Given the description of an element on the screen output the (x, y) to click on. 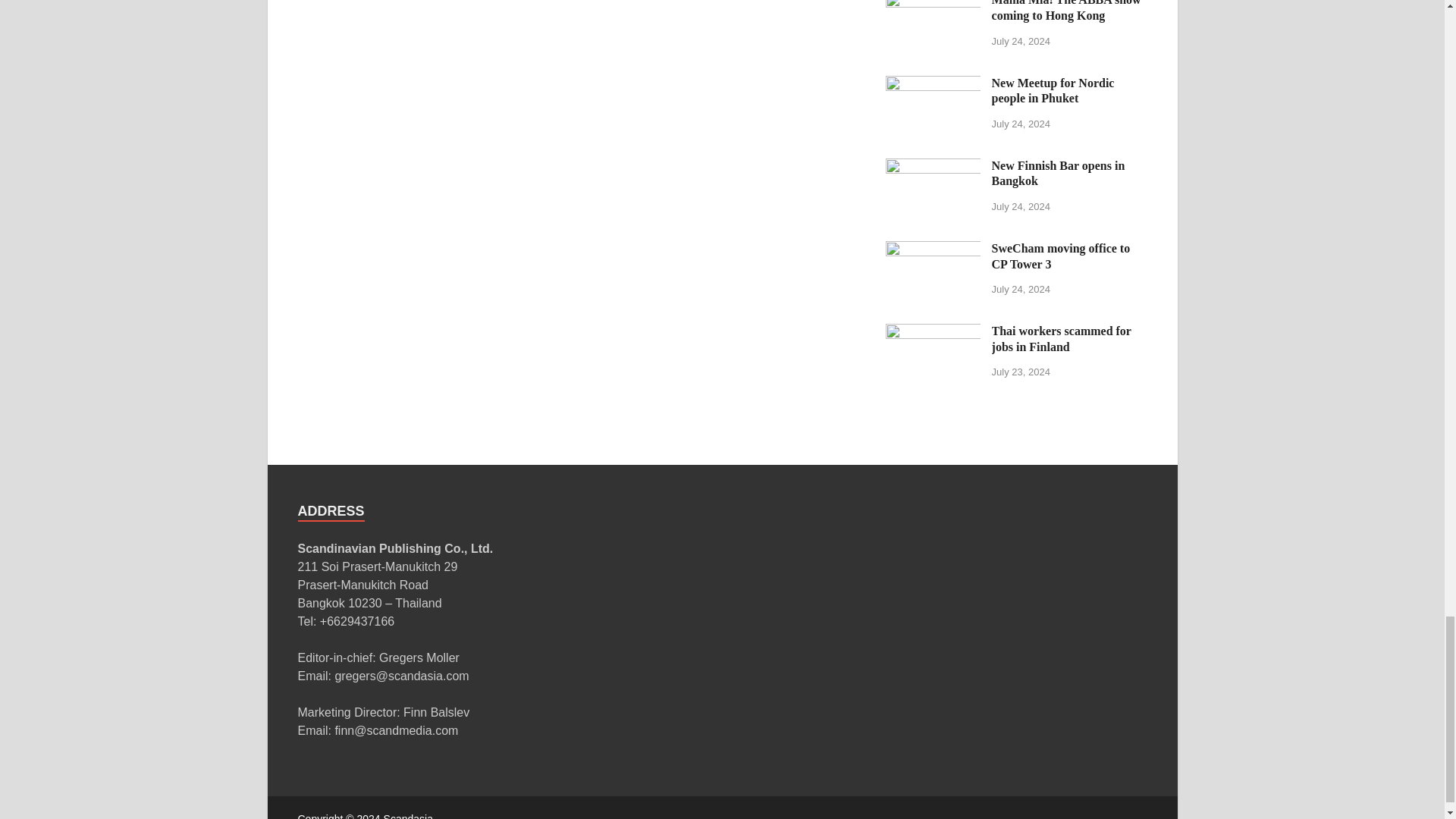
New Meetup for Nordic people in Phuket (932, 83)
Mama Mia! The ABBA show coming to Hong Kong (932, 3)
